Given the description of an element on the screen output the (x, y) to click on. 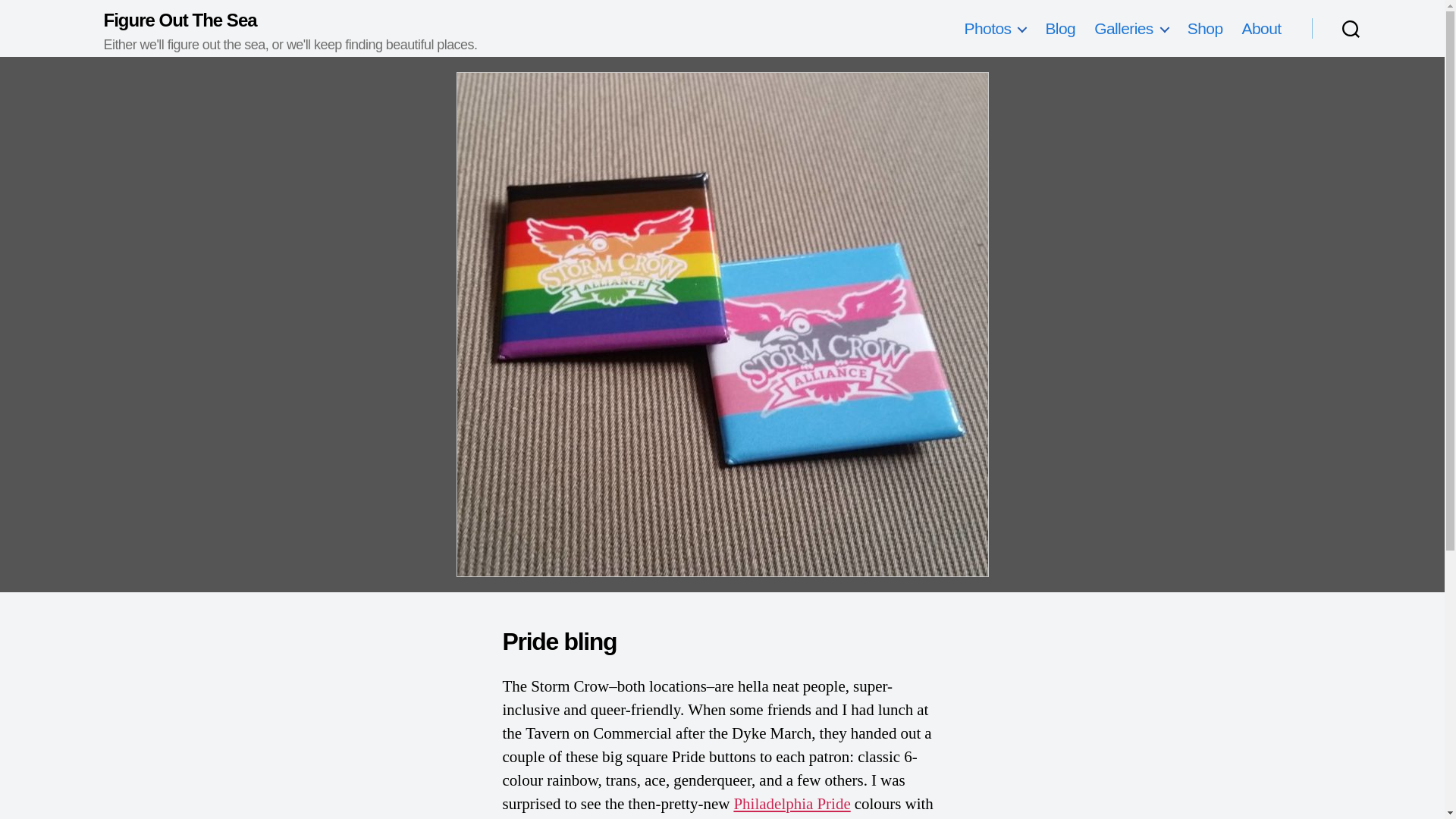
Previous: Lougheed Highway (18, 307)
About (1261, 27)
Blog (1060, 27)
Galleries (1131, 27)
Shop (1205, 27)
Photos (994, 27)
Figure Out The Sea (290, 20)
